Given the description of an element on the screen output the (x, y) to click on. 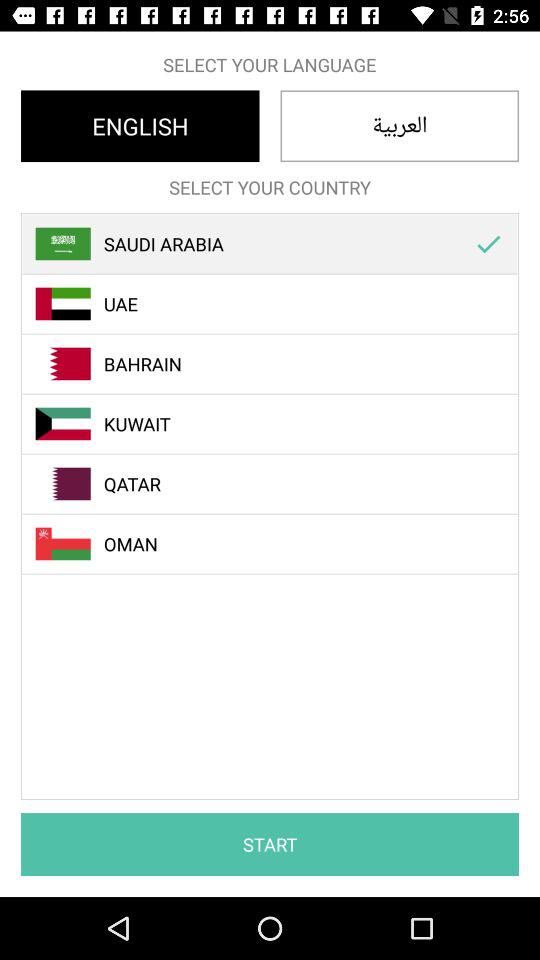
launch the icon below qatar icon (281, 543)
